Given the description of an element on the screen output the (x, y) to click on. 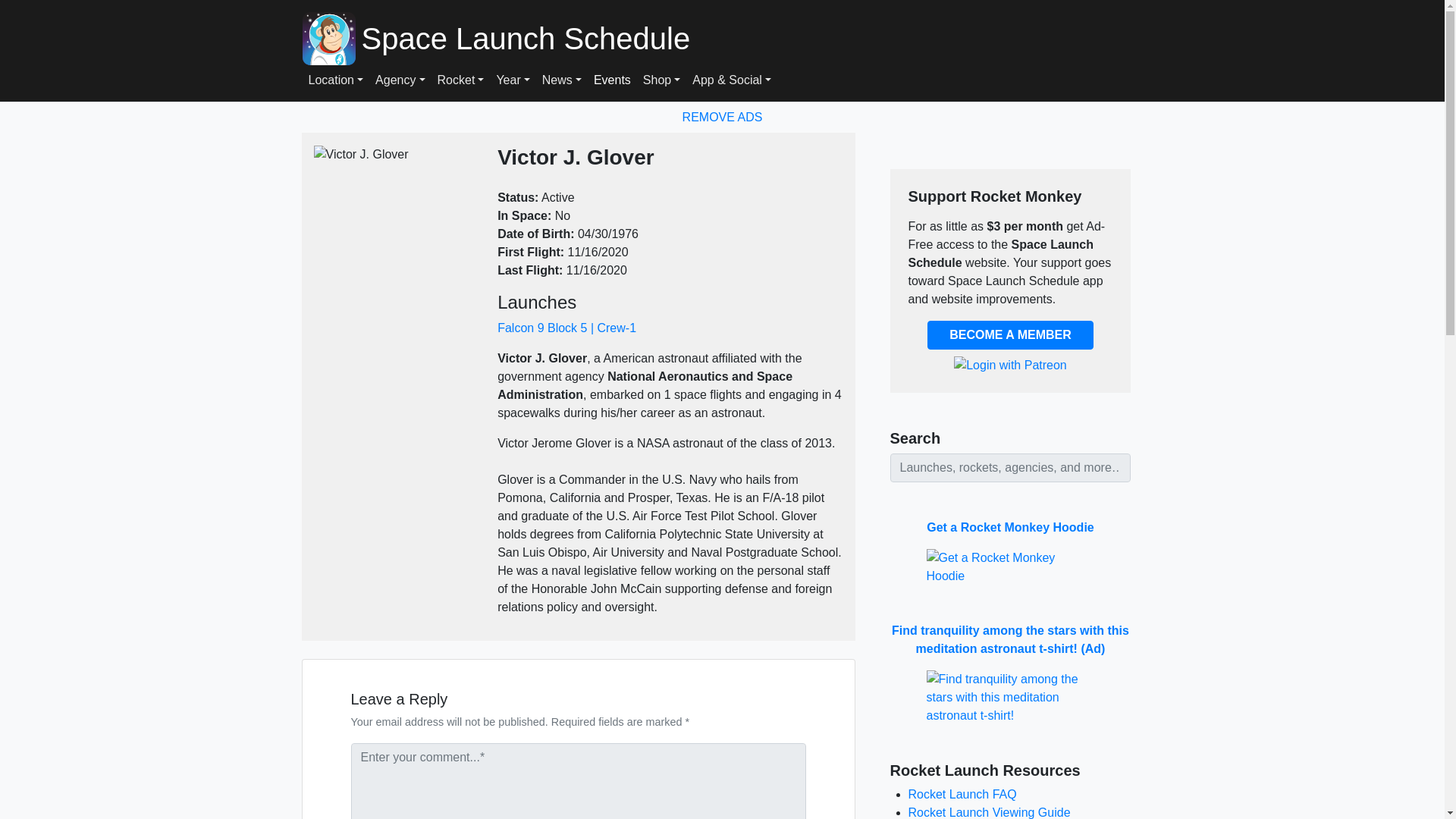
Rocket (460, 80)
Agency (399, 80)
Location (335, 80)
Year (512, 80)
Space Launch Schedule (748, 38)
